Given the description of an element on the screen output the (x, y) to click on. 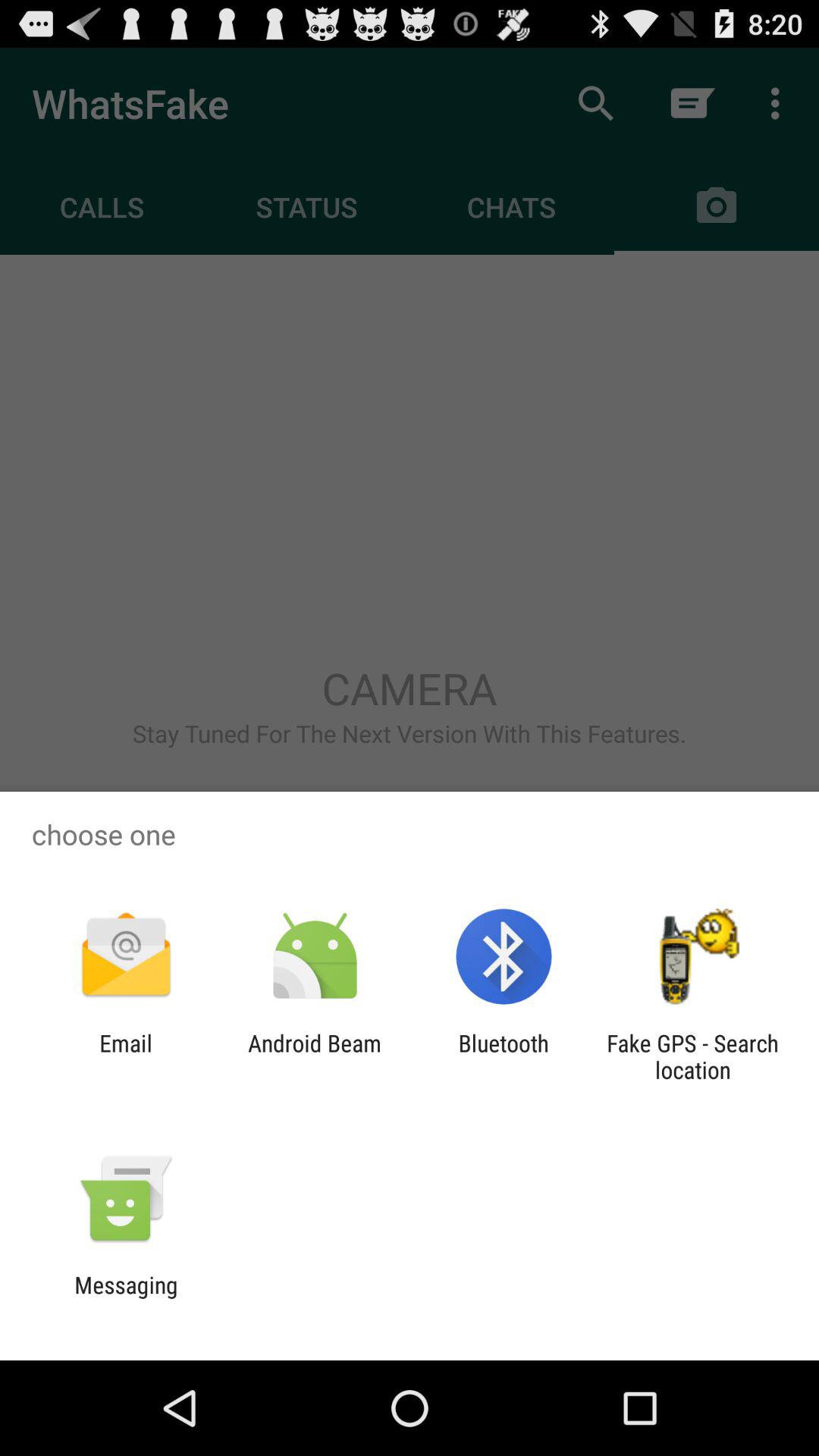
click the icon to the left of the android beam app (125, 1056)
